Given the description of an element on the screen output the (x, y) to click on. 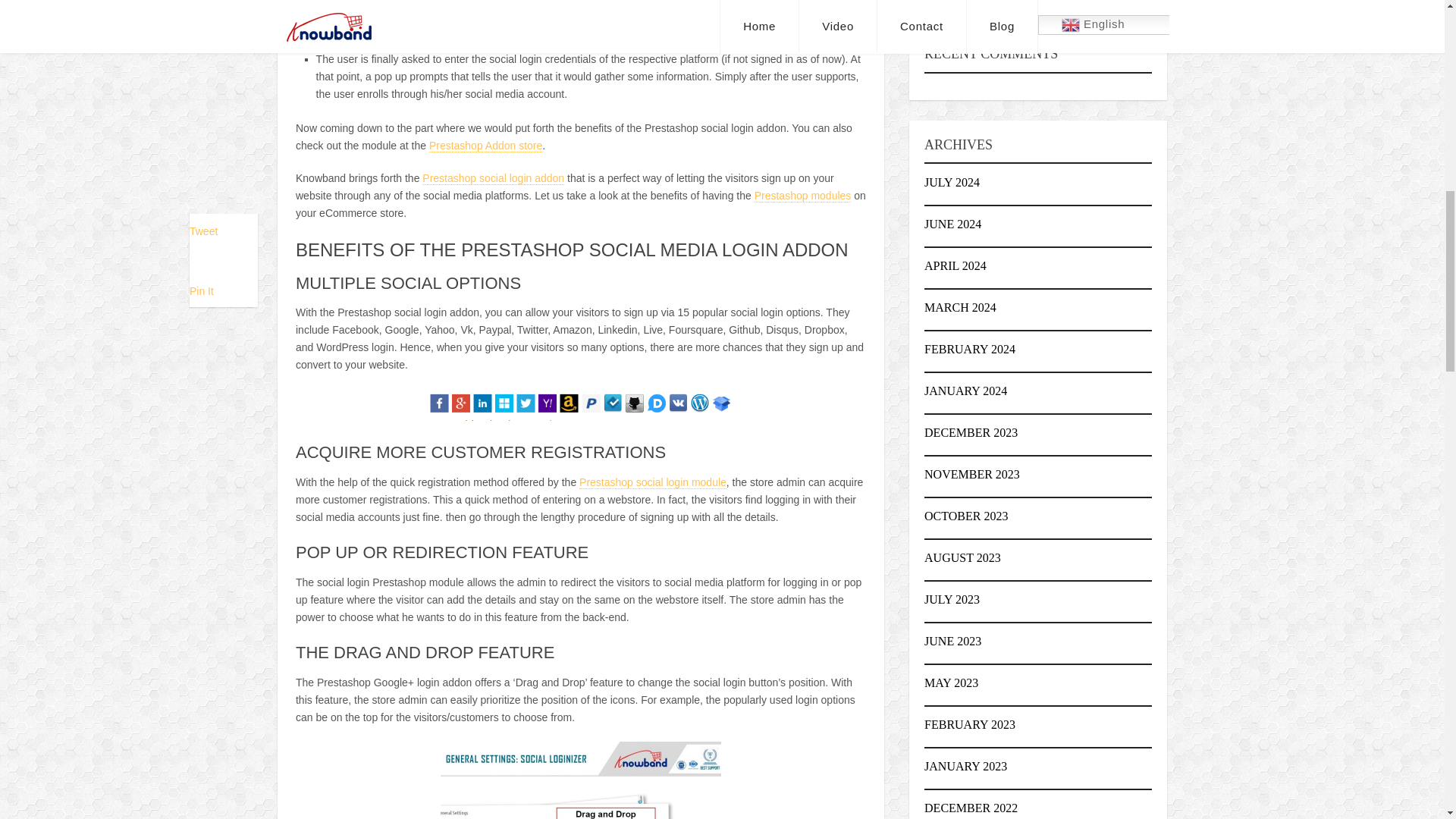
Prestashop modules (802, 195)
Prestashop social login module (652, 481)
Prestashop Addon store (485, 145)
Prestashop social login addon (493, 178)
